Given the description of an element on the screen output the (x, y) to click on. 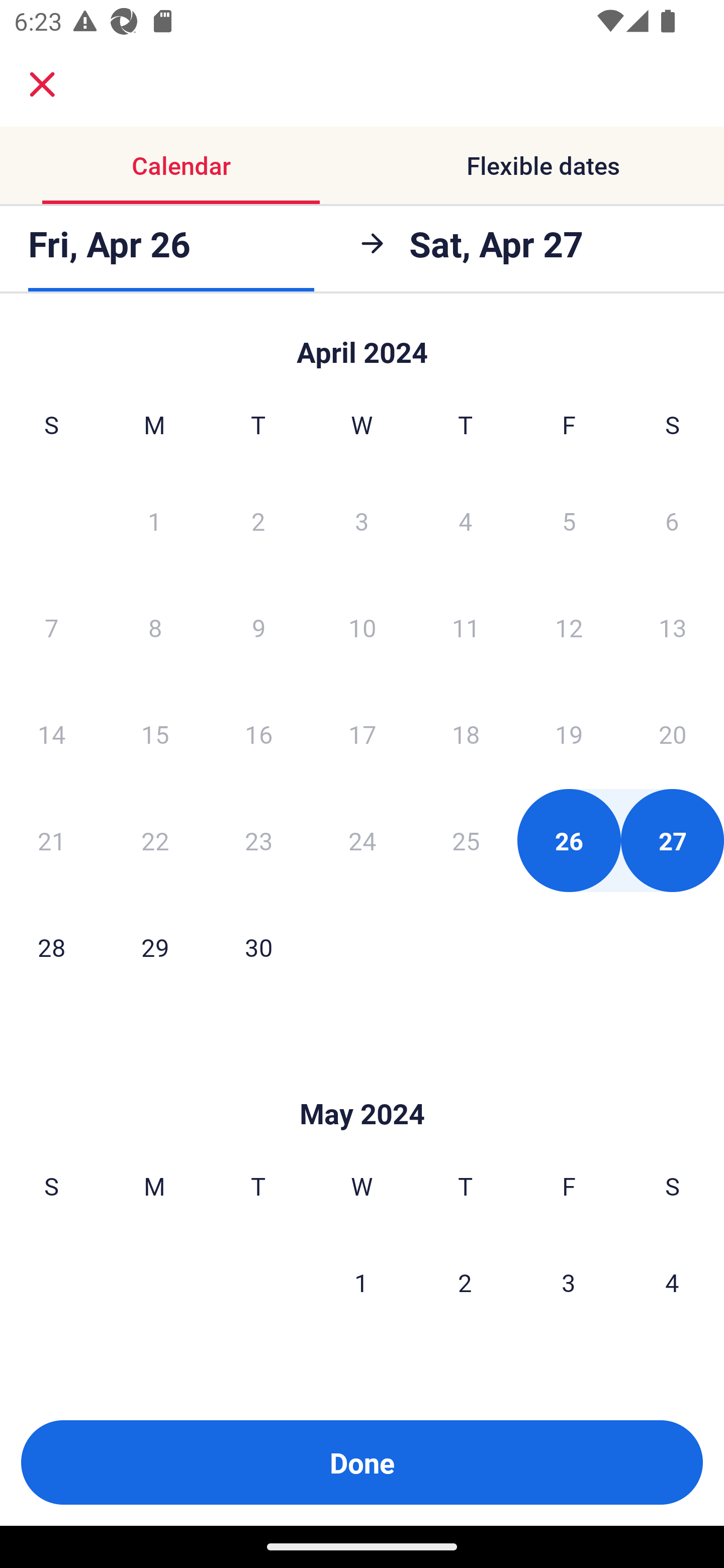
close. (42, 84)
Flexible dates (542, 164)
Skip to Done (362, 343)
1 Monday, April 1, 2024 (154, 520)
2 Tuesday, April 2, 2024 (257, 520)
3 Wednesday, April 3, 2024 (361, 520)
4 Thursday, April 4, 2024 (465, 520)
5 Friday, April 5, 2024 (568, 520)
6 Saturday, April 6, 2024 (672, 520)
7 Sunday, April 7, 2024 (51, 626)
8 Monday, April 8, 2024 (155, 626)
9 Tuesday, April 9, 2024 (258, 626)
10 Wednesday, April 10, 2024 (362, 626)
11 Thursday, April 11, 2024 (465, 626)
12 Friday, April 12, 2024 (569, 626)
13 Saturday, April 13, 2024 (672, 626)
14 Sunday, April 14, 2024 (51, 733)
15 Monday, April 15, 2024 (155, 733)
16 Tuesday, April 16, 2024 (258, 733)
17 Wednesday, April 17, 2024 (362, 733)
18 Thursday, April 18, 2024 (465, 733)
19 Friday, April 19, 2024 (569, 733)
20 Saturday, April 20, 2024 (672, 733)
21 Sunday, April 21, 2024 (51, 840)
22 Monday, April 22, 2024 (155, 840)
23 Tuesday, April 23, 2024 (258, 840)
24 Wednesday, April 24, 2024 (362, 840)
25 Thursday, April 25, 2024 (465, 840)
28 Sunday, April 28, 2024 (51, 946)
29 Monday, April 29, 2024 (155, 946)
30 Tuesday, April 30, 2024 (258, 946)
Skip to Done (362, 1083)
1 Wednesday, May 1, 2024 (361, 1282)
2 Thursday, May 2, 2024 (464, 1282)
3 Friday, May 3, 2024 (568, 1282)
4 Saturday, May 4, 2024 (672, 1282)
Done (361, 1462)
